Given the description of an element on the screen output the (x, y) to click on. 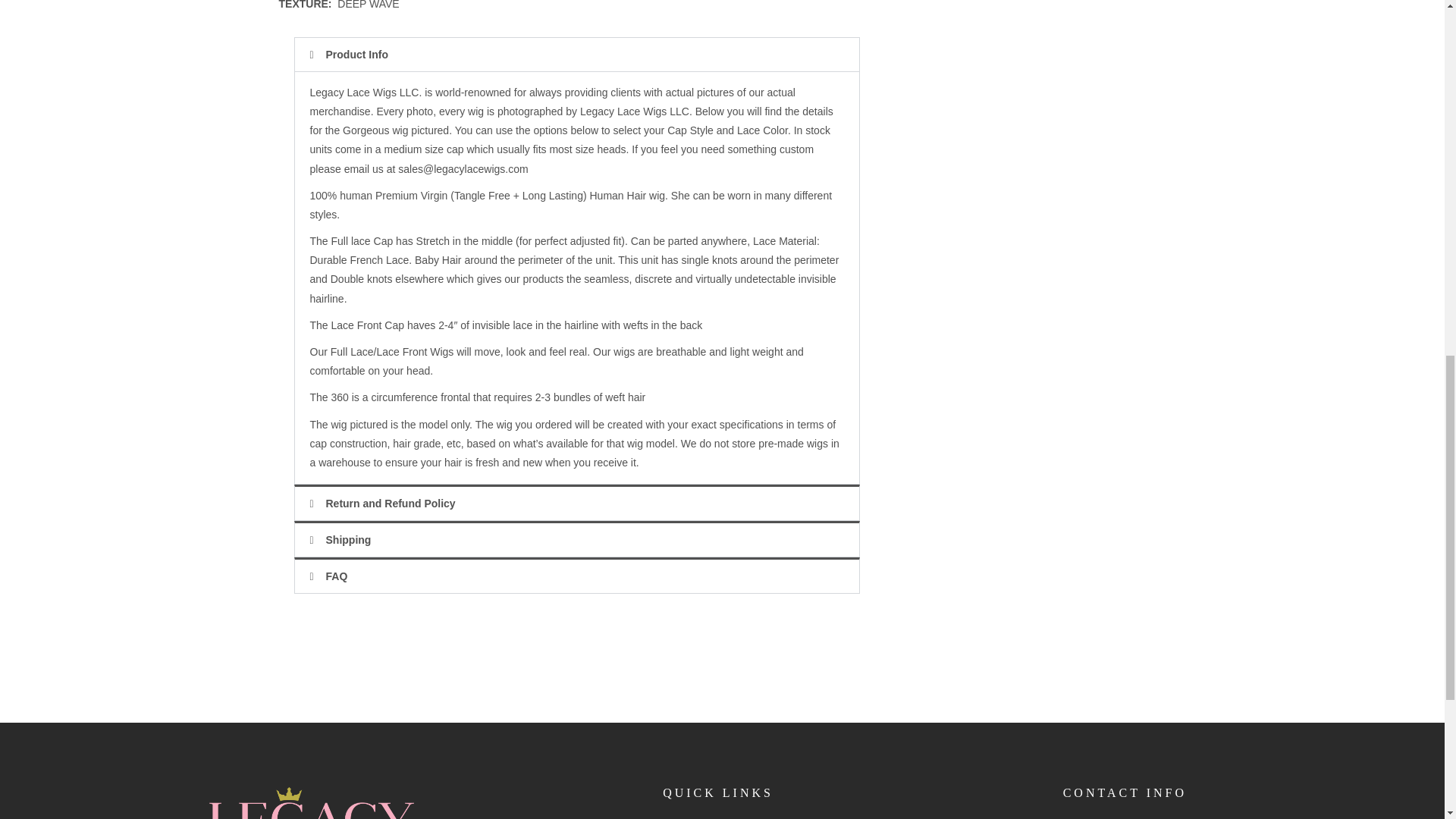
Legacy Lace Wigs (311, 803)
